Given the description of an element on the screen output the (x, y) to click on. 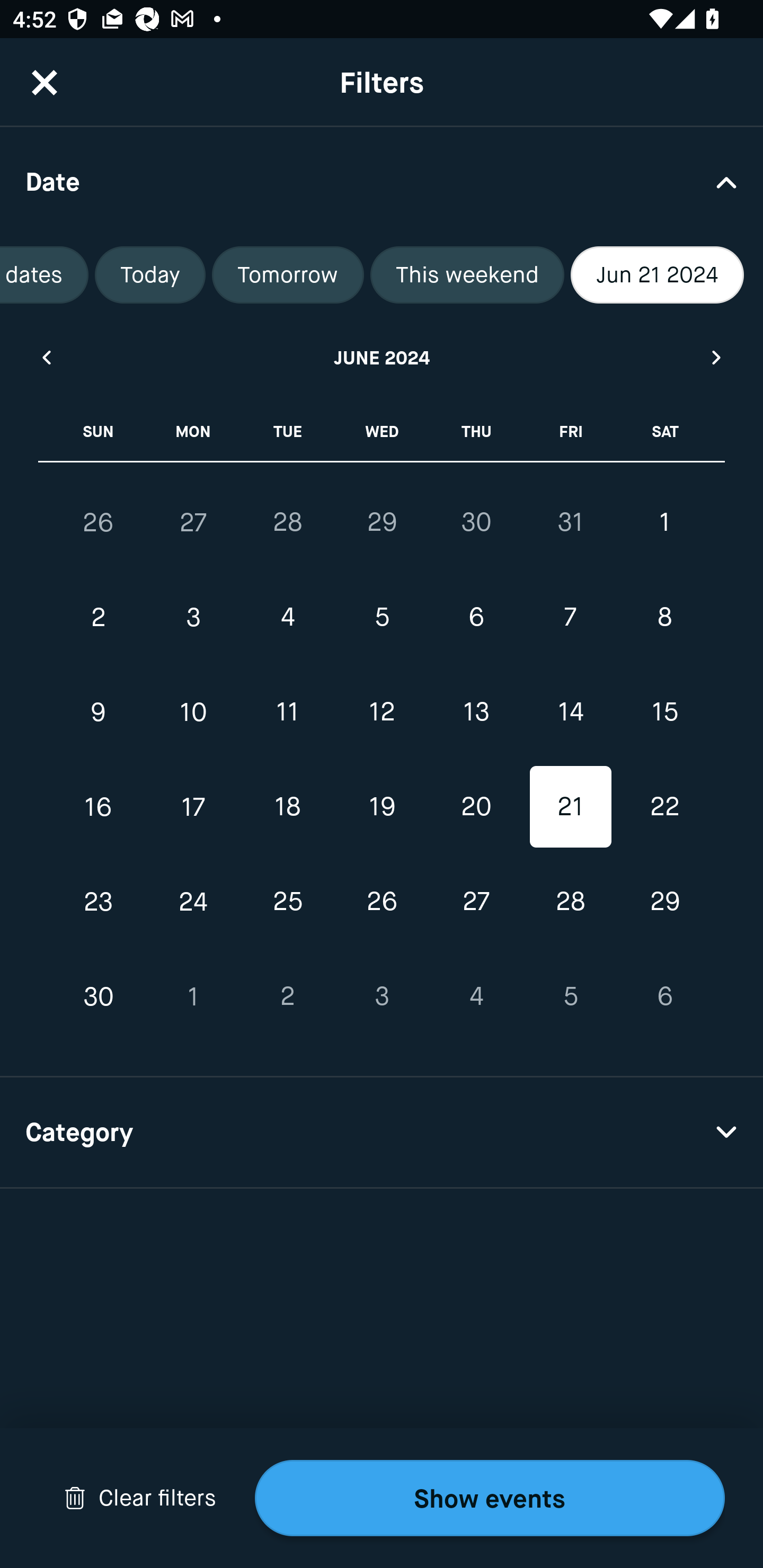
CloseButton (44, 82)
Date Drop Down Arrow (381, 181)
All dates (44, 274)
Today (149, 274)
Tomorrow (287, 274)
This weekend (467, 274)
Jun 21 2024 (656, 274)
Previous (45, 357)
Next (717, 357)
26 (98, 522)
27 (192, 522)
28 (287, 522)
29 (381, 522)
30 (475, 522)
31 (570, 522)
1 (664, 522)
2 (98, 617)
3 (192, 617)
4 (287, 617)
5 (381, 617)
6 (475, 617)
7 (570, 617)
8 (664, 617)
9 (98, 711)
10 (192, 711)
11 (287, 711)
12 (381, 711)
13 (475, 711)
14 (570, 711)
15 (664, 711)
16 (98, 806)
17 (192, 806)
18 (287, 806)
19 (381, 806)
20 (475, 806)
21 (570, 806)
22 (664, 806)
23 (98, 901)
24 (192, 901)
25 (287, 901)
26 (381, 901)
27 (475, 901)
28 (570, 901)
29 (664, 901)
30 (98, 996)
1 (192, 996)
2 (287, 996)
3 (381, 996)
4 (475, 996)
5 (570, 996)
